Given the description of an element on the screen output the (x, y) to click on. 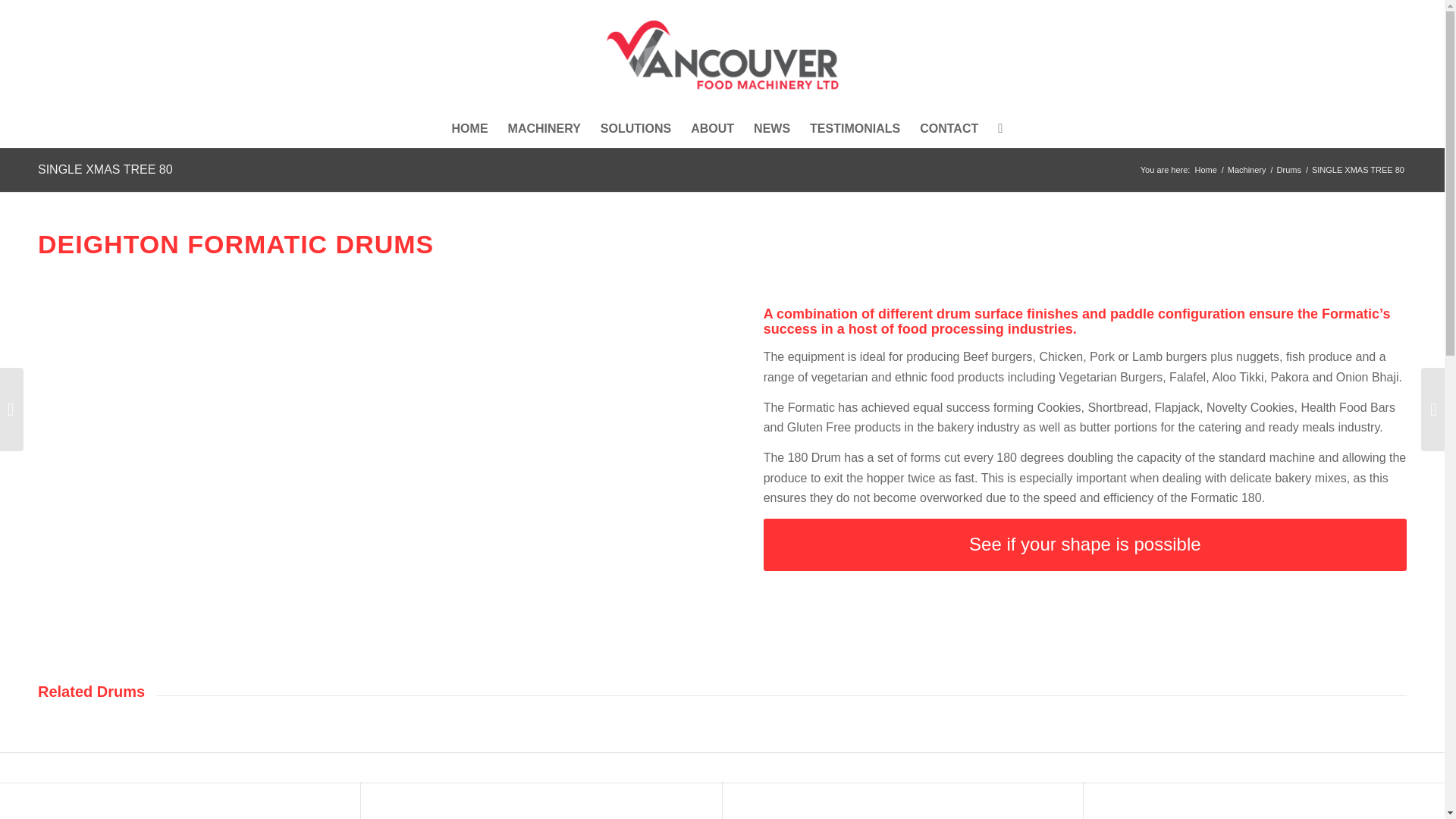
Permanent Link: SINGLE XMAS TREE 80 (105, 169)
SOLUTIONS (636, 128)
Machinery (1246, 170)
MACHINERY (544, 128)
Drums (1289, 170)
CONTACT (949, 128)
Vancouver Food Machinery (1205, 170)
See if your shape is possible (1084, 544)
ABOUT (712, 128)
Home (1205, 170)
SINGLE XMAS TREE 80 (105, 169)
TESTIMONIALS (854, 128)
Drums (1289, 170)
Machinery (1246, 170)
vancouver-food-machinery-logo-web-large (721, 54)
